Given the description of an element on the screen output the (x, y) to click on. 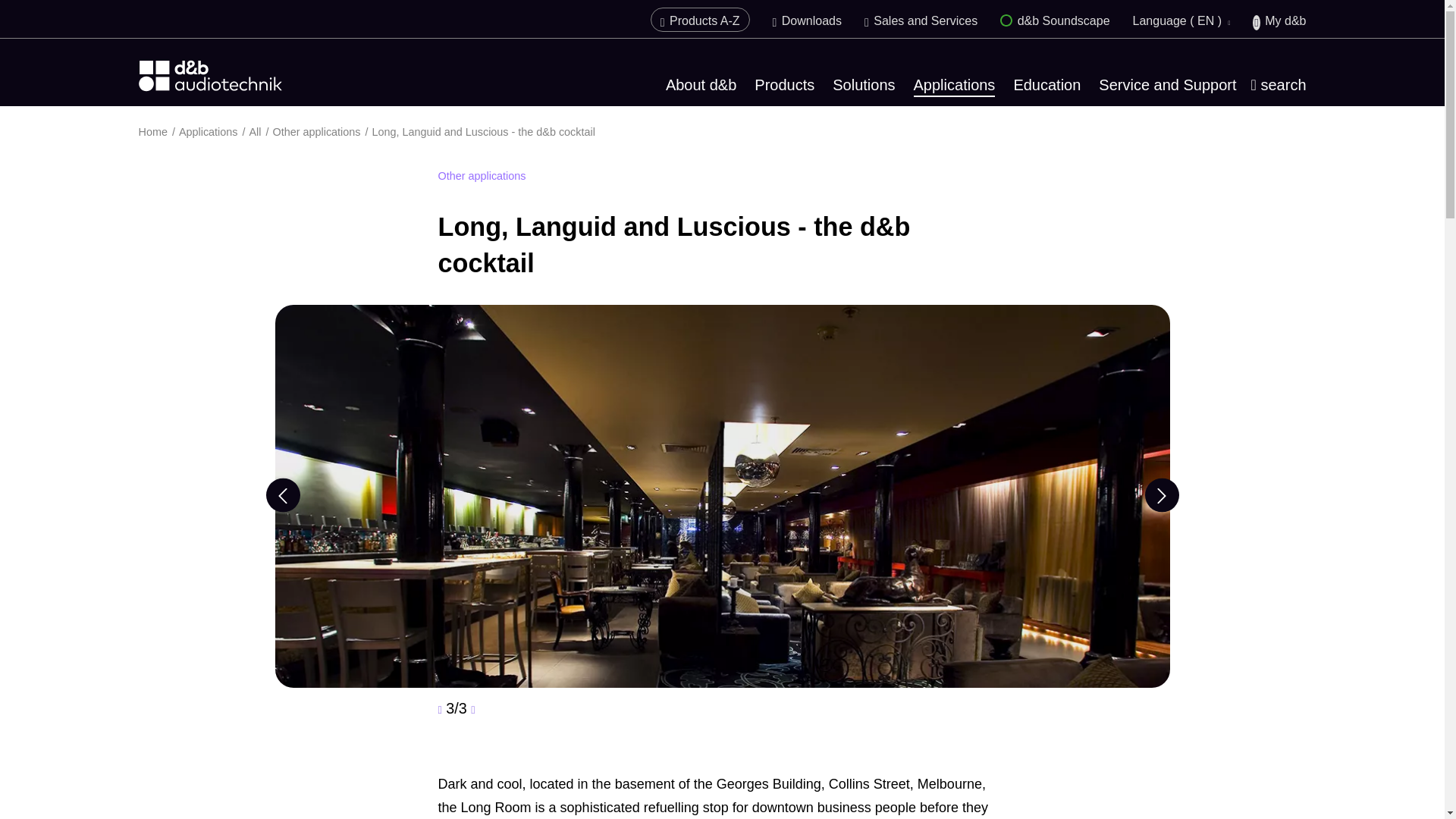
Applications (213, 131)
search (1278, 85)
Education (1046, 85)
Applications (954, 86)
Language (1181, 20)
Products A-Z (699, 20)
Service and Support (1167, 85)
Applications (213, 131)
Other applications (322, 131)
Products A-Z (699, 20)
Downloads (807, 20)
All (260, 131)
Home (157, 131)
Other applications (322, 131)
Sales and Services (920, 20)
